Given the description of an element on the screen output the (x, y) to click on. 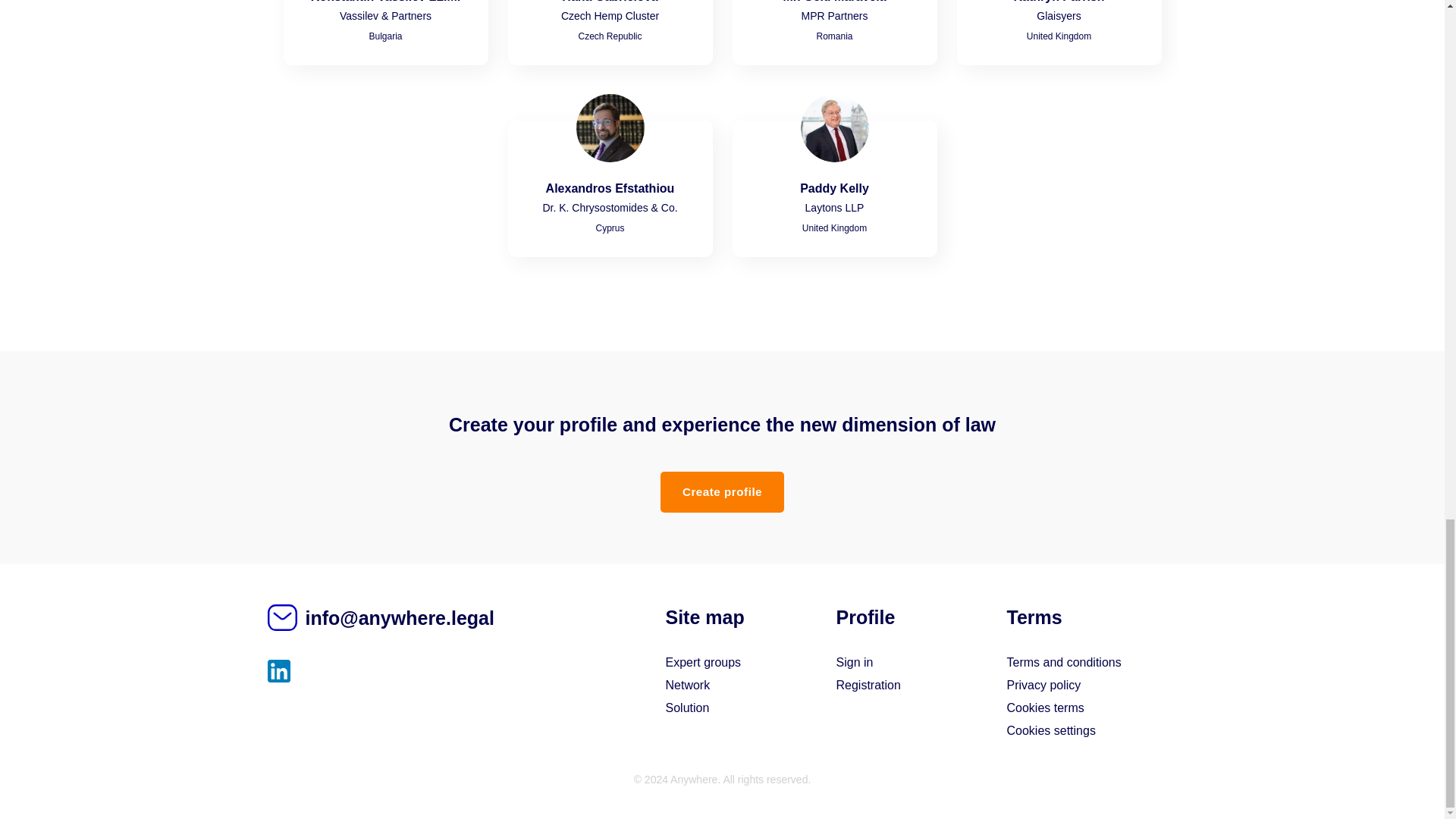
Sign in (853, 662)
Create profile (722, 492)
Network (687, 684)
Terms and conditions (1064, 662)
Privacy policy (1044, 684)
Expert groups (703, 662)
Solution (687, 707)
Cookies terms (1045, 707)
Cookies settings (1051, 730)
Registration (867, 684)
